Given the description of an element on the screen output the (x, y) to click on. 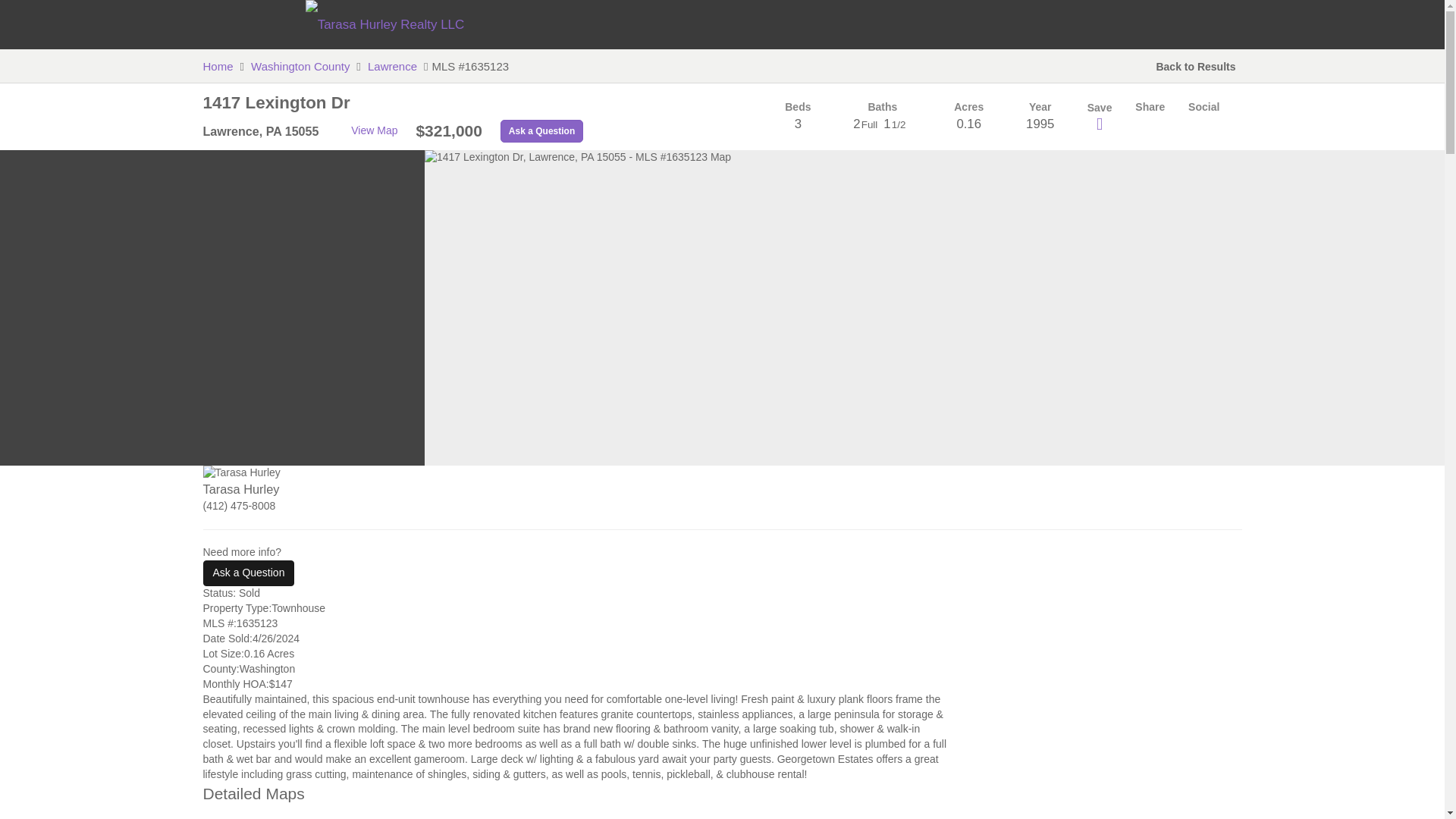
View Map (578, 800)
